Given the description of an element on the screen output the (x, y) to click on. 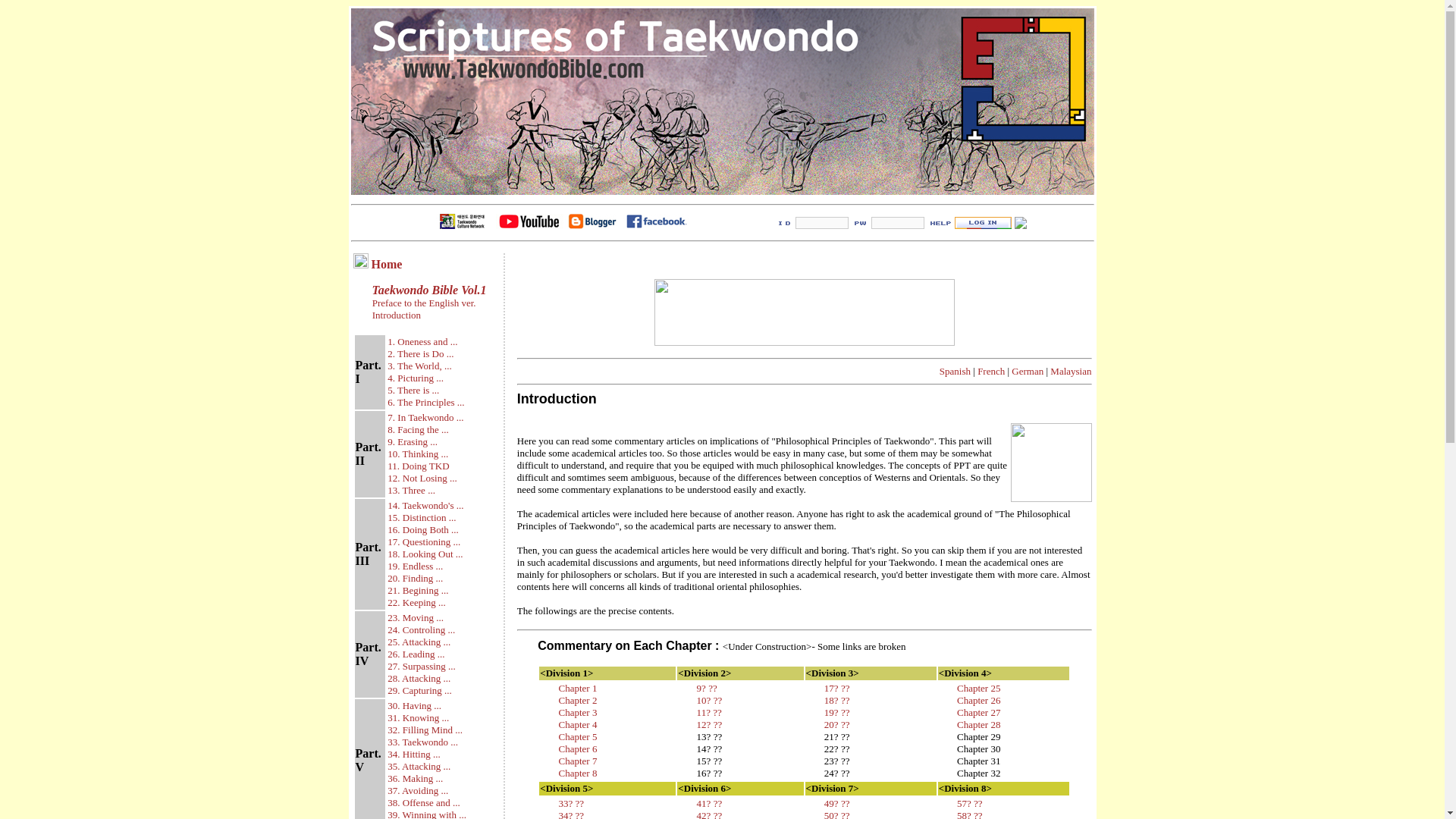
2. There is Do ... (419, 352)
15. Distinction ... (421, 517)
Preface to the English ver. (422, 302)
11. Doing TKD (417, 465)
3. The World, ... (419, 365)
Introduction (396, 315)
4. Picturing ... (415, 376)
24. Controling ... (420, 629)
10. Thinking ... (417, 453)
13. Three ... (411, 490)
Home (387, 264)
16. Doing Both ... (422, 529)
6. The Principles ... (425, 401)
27. Surpassing ... (421, 665)
23. Moving ... (415, 617)
